Given the description of an element on the screen output the (x, y) to click on. 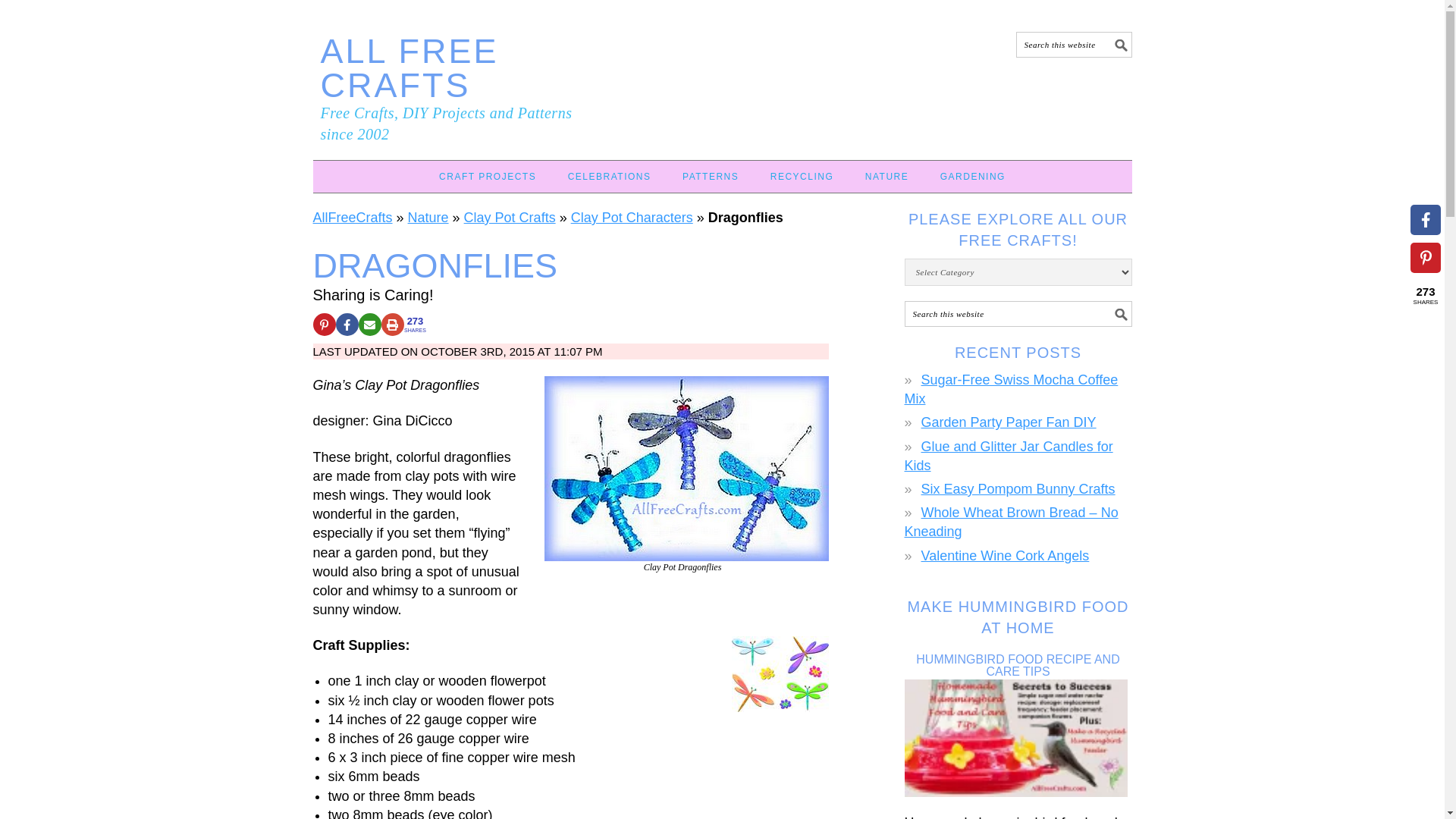
Hummingbird Food Recipe and Care Tips (1017, 737)
CELEBRATIONS (609, 176)
NATURE (886, 176)
ALL FREE CRAFTS (408, 67)
PATTERNS (710, 176)
RECYCLING (801, 176)
GARDENING (972, 176)
